Given the description of an element on the screen output the (x, y) to click on. 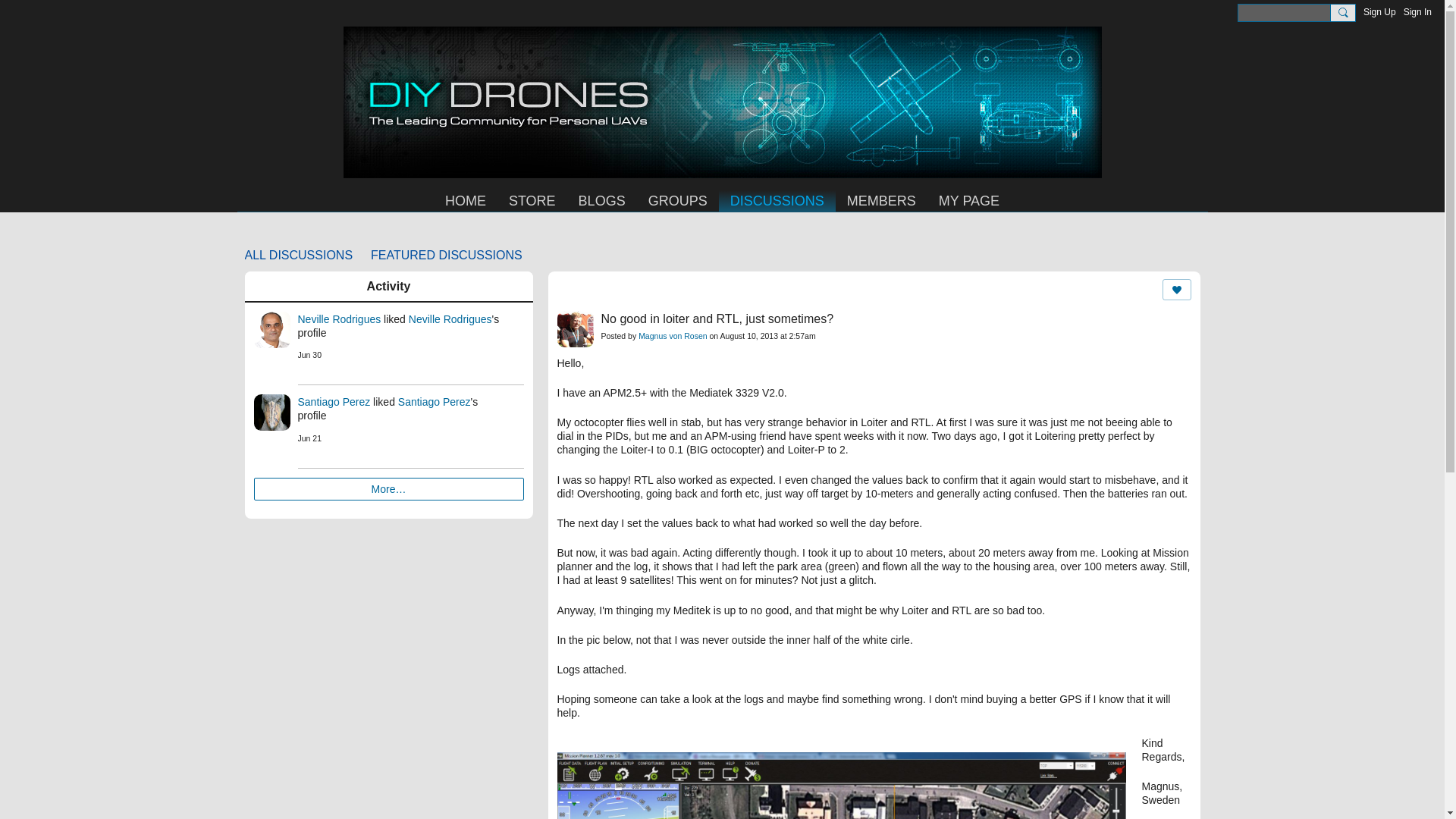
GROUPS (678, 200)
Magnus von Rosen (672, 335)
ALL DISCUSSIONS (298, 255)
MY PAGE (968, 200)
Neville Rodrigues (450, 318)
Sign Up (1379, 12)
FEATURED DISCUSSIONS (446, 255)
Santiago Perez (333, 401)
DISCUSSIONS (777, 200)
MEMBERS (881, 200)
STORE (532, 200)
BLOGS (602, 200)
No good in loiter and RTL, just sometimes? (715, 318)
HOME (465, 200)
Neville Rodrigues (338, 318)
